Given the description of an element on the screen output the (x, y) to click on. 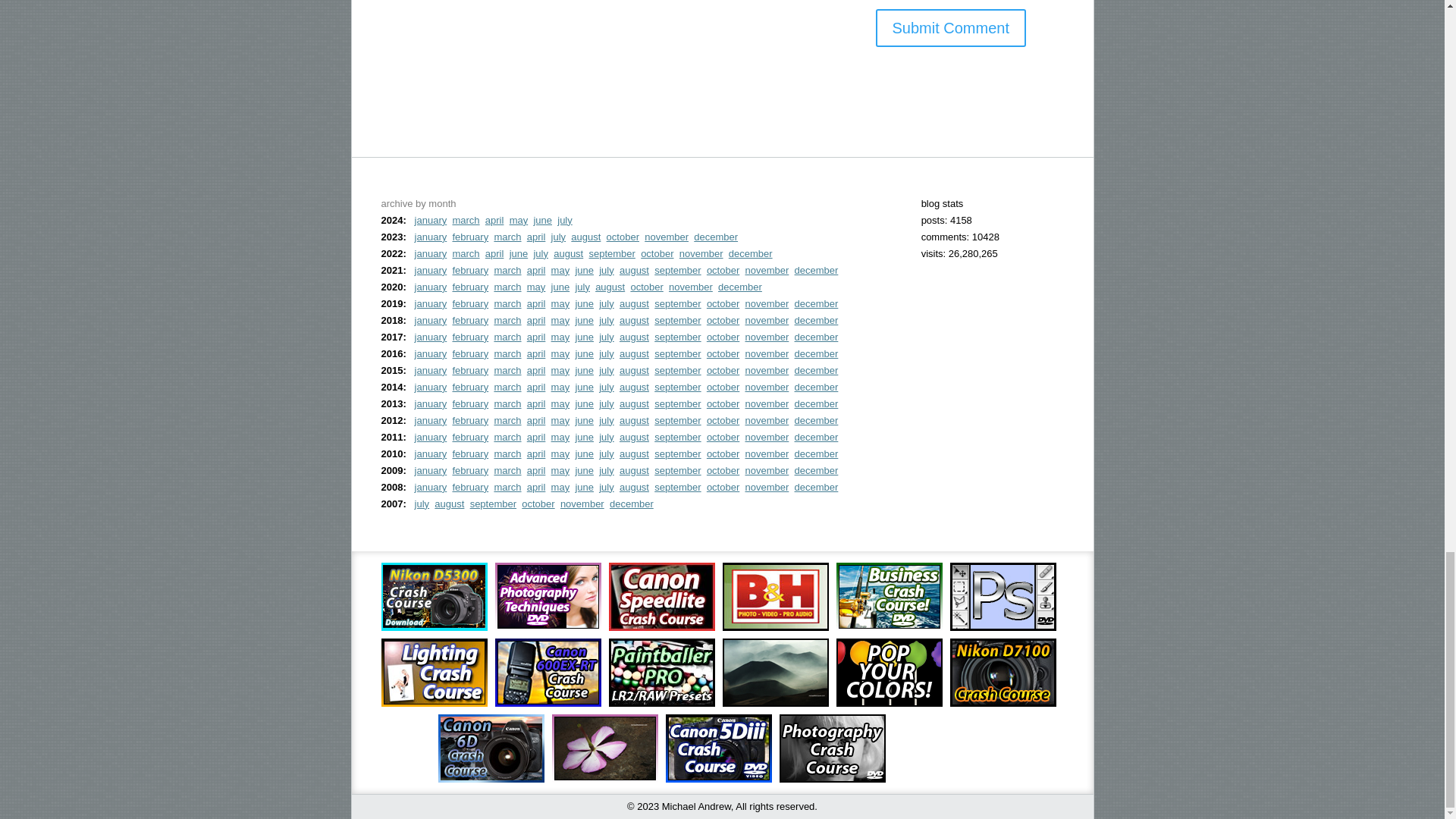
Submit Comment (950, 27)
